Given the description of an element on the screen output the (x, y) to click on. 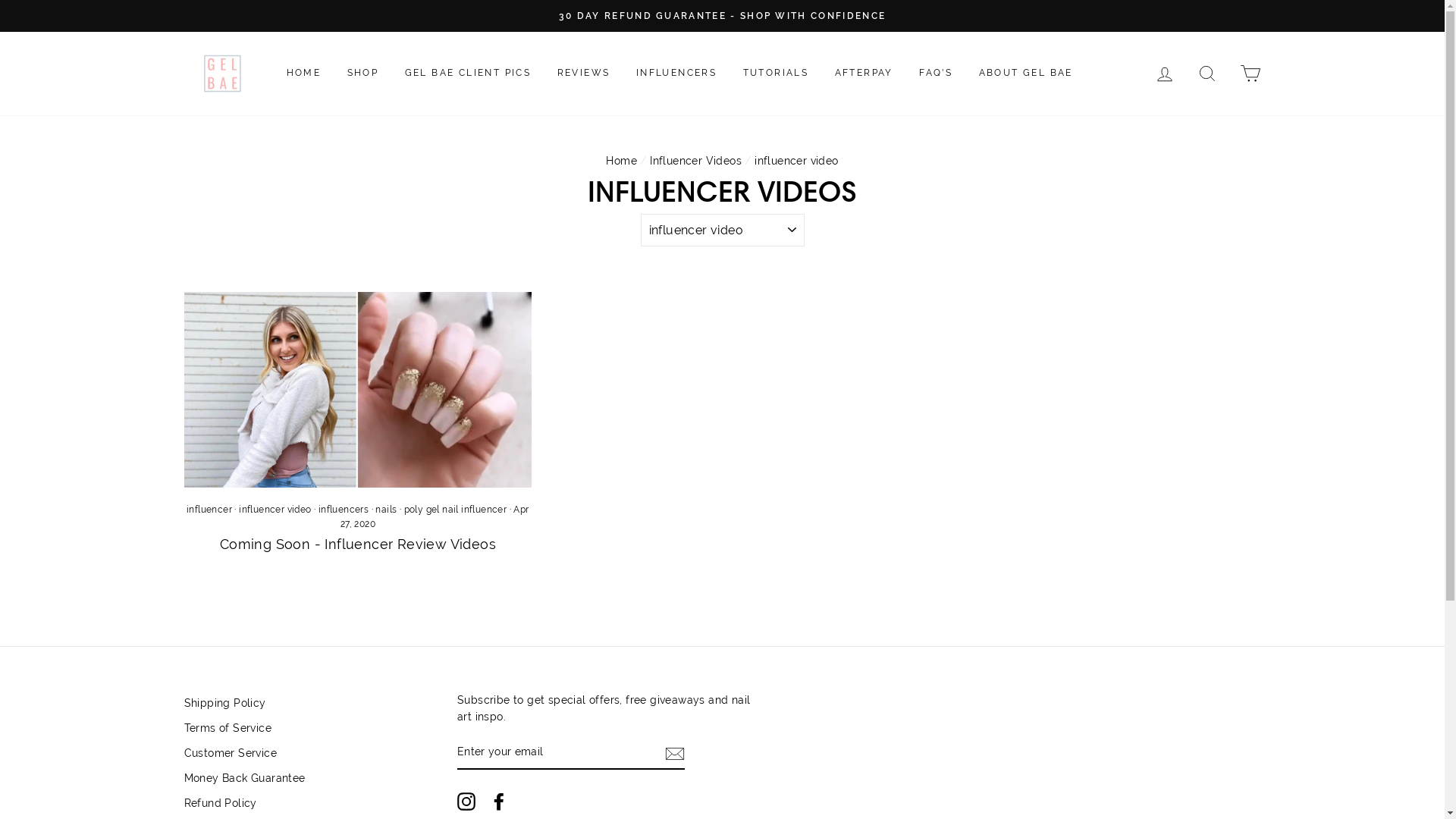
Skip to content Element type: text (0, 0)
HOME Element type: text (303, 73)
Customer Service Element type: text (229, 753)
INFLUENCERS Element type: text (676, 73)
FAQ'S Element type: text (935, 73)
AFTERPAY Element type: text (863, 73)
TUTORIALS Element type: text (775, 73)
LOG IN Element type: text (1164, 72)
CART Element type: text (1249, 72)
ABOUT GEL BAE Element type: text (1025, 73)
Terms of Service Element type: text (226, 728)
Home Element type: text (621, 160)
poly gel nail influencer Element type: text (455, 509)
Coming Soon - Influencer Review Videos Element type: text (357, 544)
SEARCH Element type: text (1206, 72)
nails Element type: text (385, 509)
REVIEWS Element type: text (583, 73)
Instagram Element type: text (466, 801)
influencer video Element type: text (274, 509)
influencers Element type: text (343, 509)
GEL BAE CLIENT PICS Element type: text (467, 73)
Facebook Element type: text (498, 801)
Refund Policy Element type: text (219, 803)
influencer Element type: text (209, 509)
Money Back Guarantee Element type: text (243, 778)
Influencer Videos Element type: text (695, 160)
SHOP Element type: text (362, 73)
Shipping Policy Element type: text (224, 703)
